Given the description of an element on the screen output the (x, y) to click on. 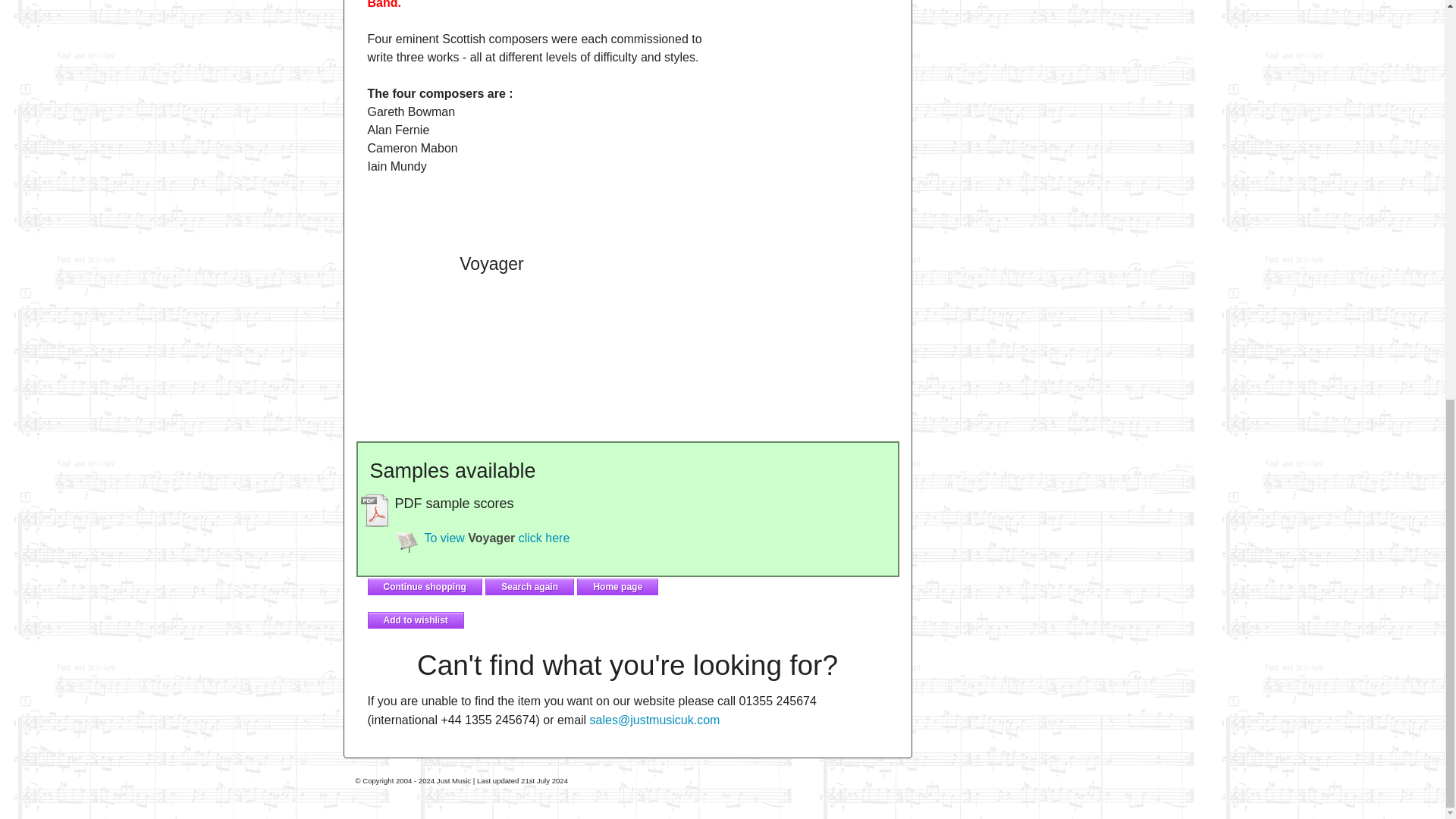
Add to wishlist (414, 619)
Continue shopping (423, 586)
Home page (617, 586)
Search again (528, 586)
PDF (376, 510)
To view Voyager click here (497, 537)
PDF (406, 540)
Add to wishlist (414, 619)
